Given the description of an element on the screen output the (x, y) to click on. 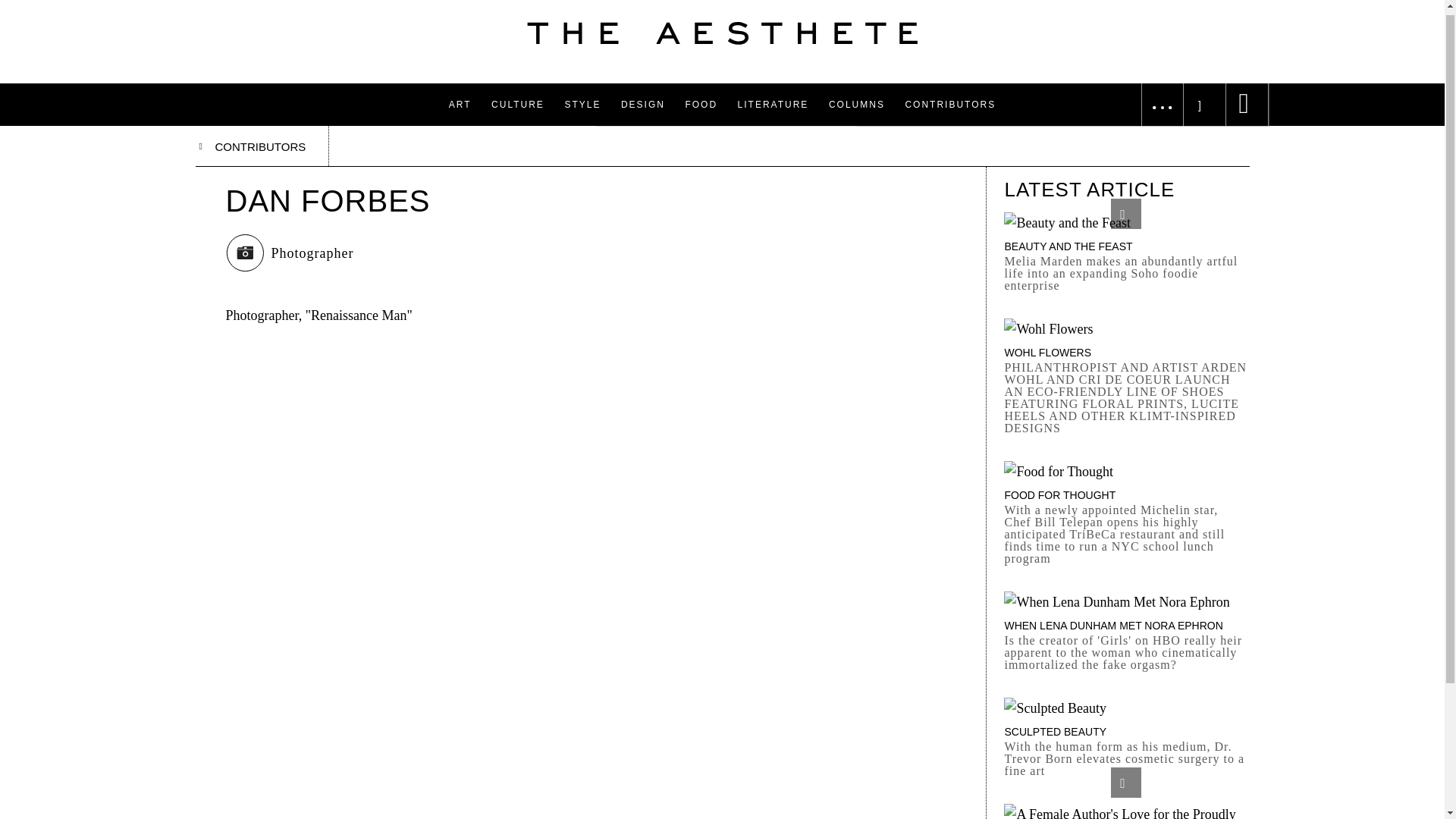
COLUMNS (856, 104)
FACEBOOK (1149, 2)
PINTEREST (1151, 59)
Sign up (1204, 50)
LITERATURE (773, 104)
TERMS AND CONDITIONS (990, 28)
CONTRIBUTORS (949, 104)
search (21, 5)
TWITTER (1144, 28)
The Aesthete (721, 33)
CULTURE (518, 104)
CONTACT US (955, 2)
CONTRIBUTORS (262, 146)
Sign up (1204, 50)
DESIGN (643, 104)
